Given the description of an element on the screen output the (x, y) to click on. 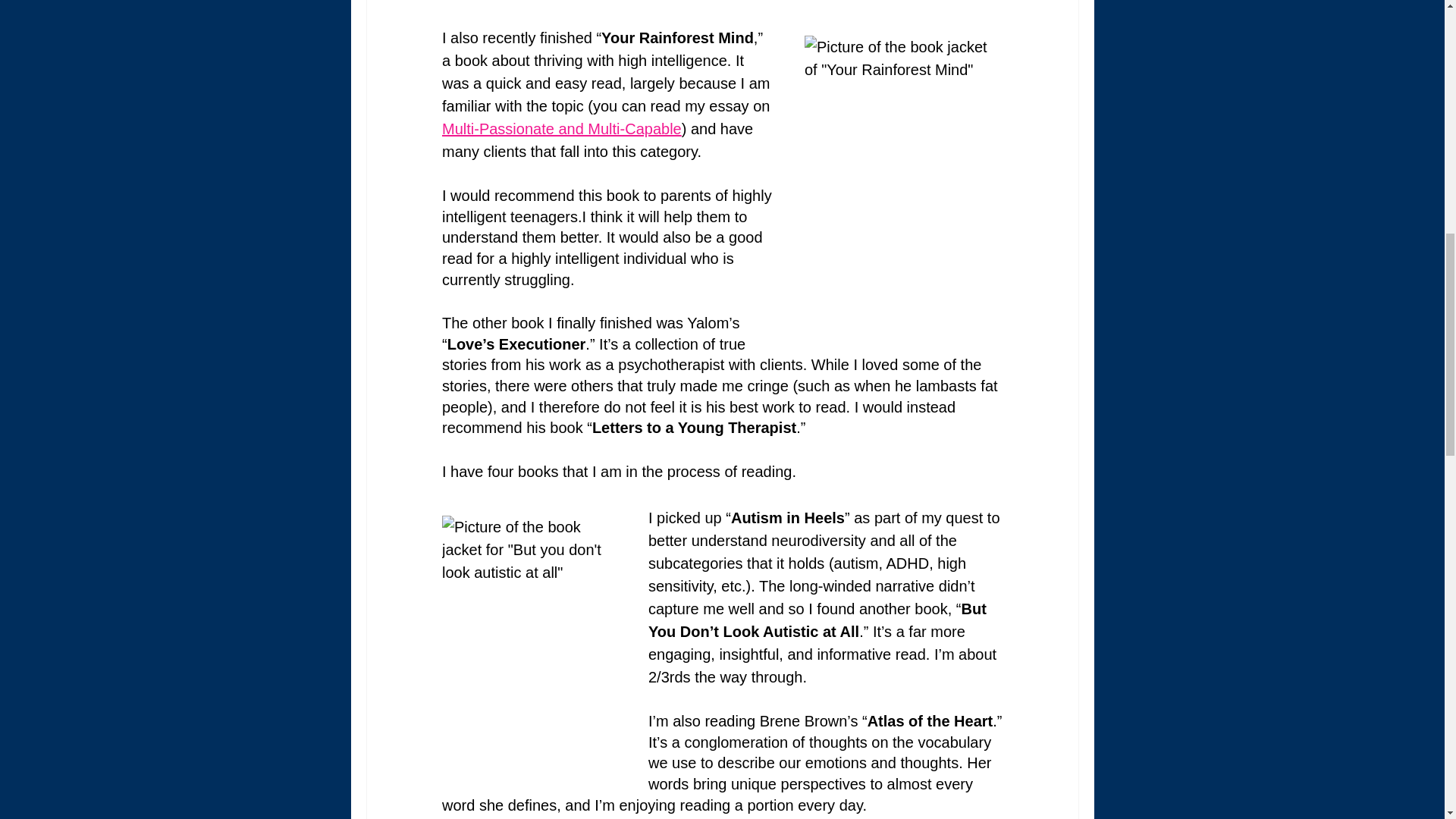
Multi-Passionate and Multi-Capable (561, 128)
